Given the description of an element on the screen output the (x, y) to click on. 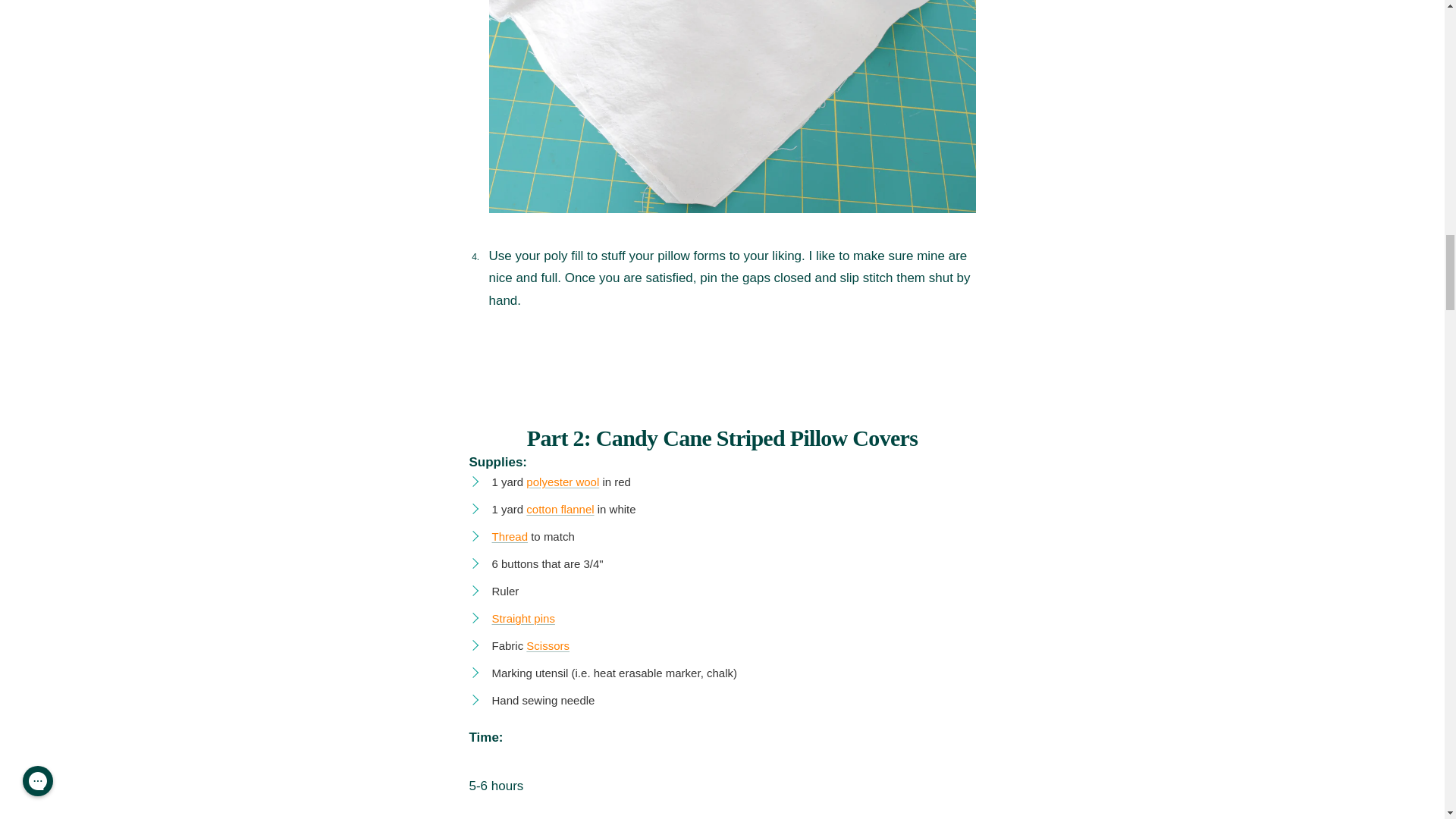
polyester wool (561, 481)
Scissors (547, 645)
Cotton Flannel (559, 508)
Brushed Polyester Wool Coating (561, 481)
Straight Pins (523, 617)
Thread (509, 535)
